Given the description of an element on the screen output the (x, y) to click on. 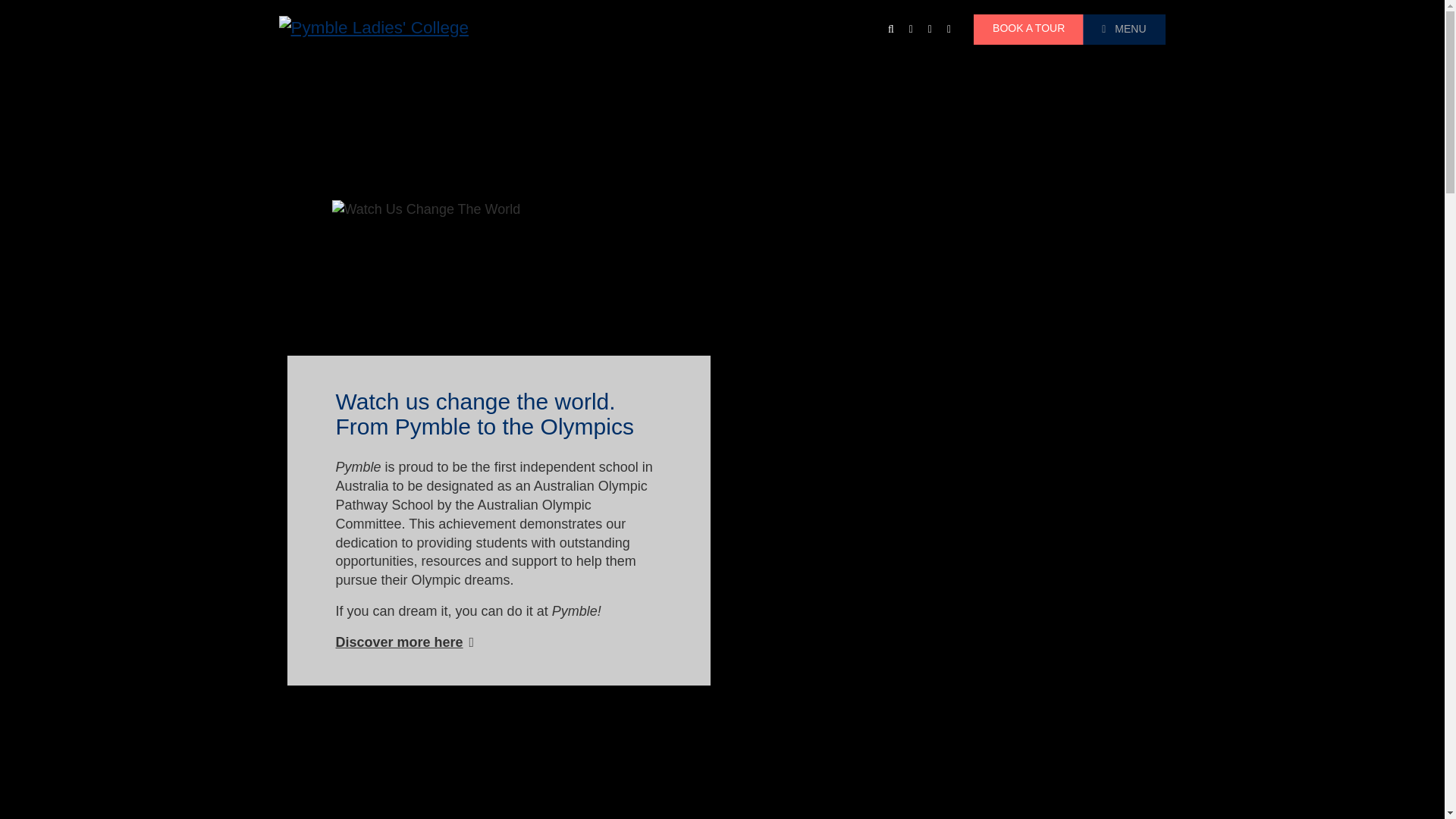
SEARCH (890, 28)
VIEW MAP (929, 29)
CONTACT (910, 29)
BOOK A TOUR (1028, 29)
MY PYMBLE (948, 29)
MENU (1123, 29)
